Given the description of an element on the screen output the (x, y) to click on. 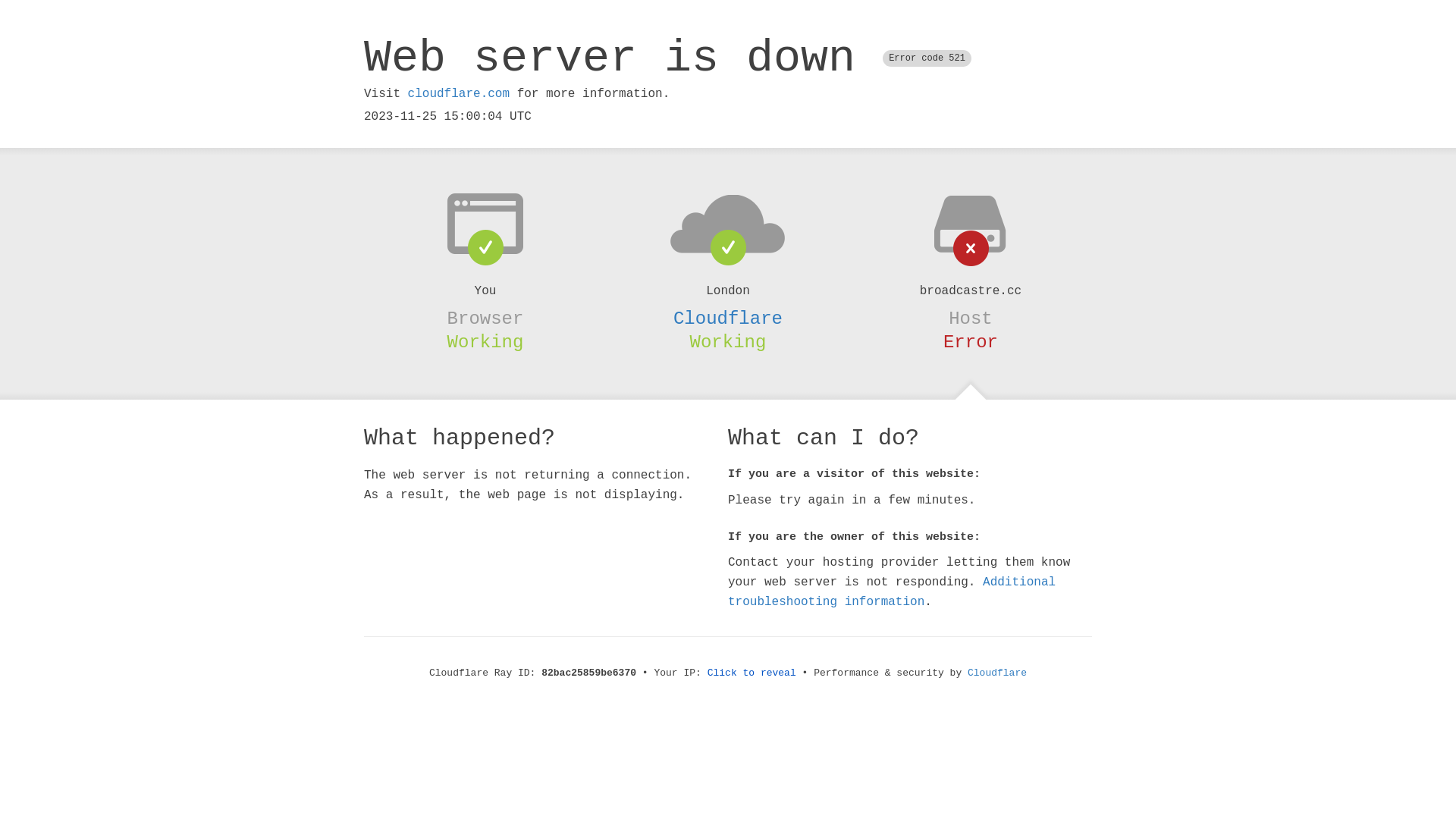
cloudflare.com Element type: text (458, 93)
Cloudflare Element type: text (727, 318)
Additional troubleshooting information Element type: text (891, 591)
Click to reveal Element type: text (751, 672)
Cloudflare Element type: text (996, 672)
